Given the description of an element on the screen output the (x, y) to click on. 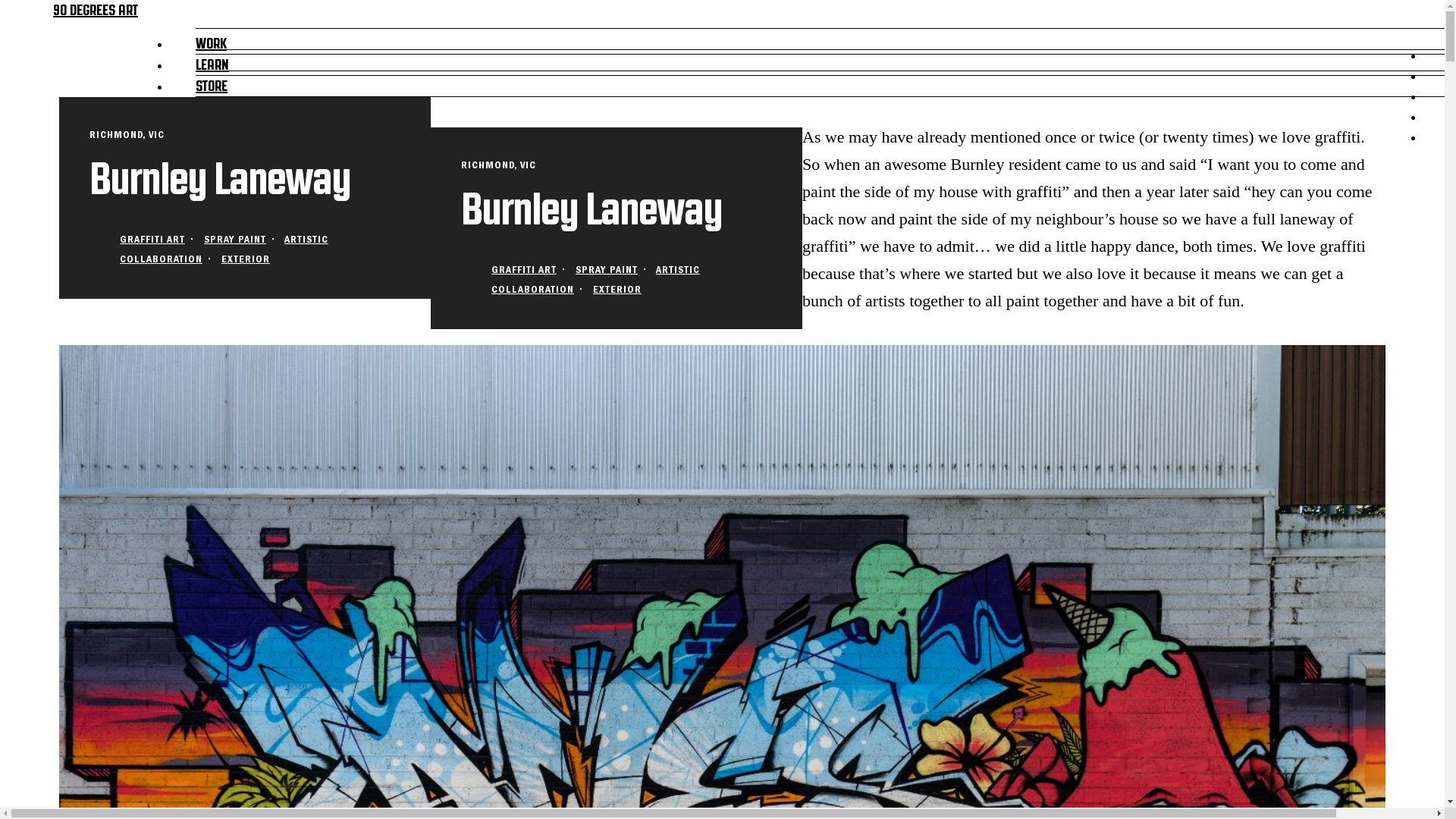
EXTERIOR Element type: text (617, 288)
SPRAY PAINT Element type: text (234, 238)
GRAFFITI ART Element type: text (523, 269)
LEARN Element type: text (211, 62)
GRAFFITI ART Element type: text (152, 238)
EXTERIOR Element type: text (245, 258)
STORE Element type: text (211, 83)
ARTISTIC COLLABORATION Element type: text (223, 248)
ARTISTIC COLLABORATION Element type: text (595, 279)
SPRAY PAINT Element type: text (606, 269)
